Given the description of an element on the screen output the (x, y) to click on. 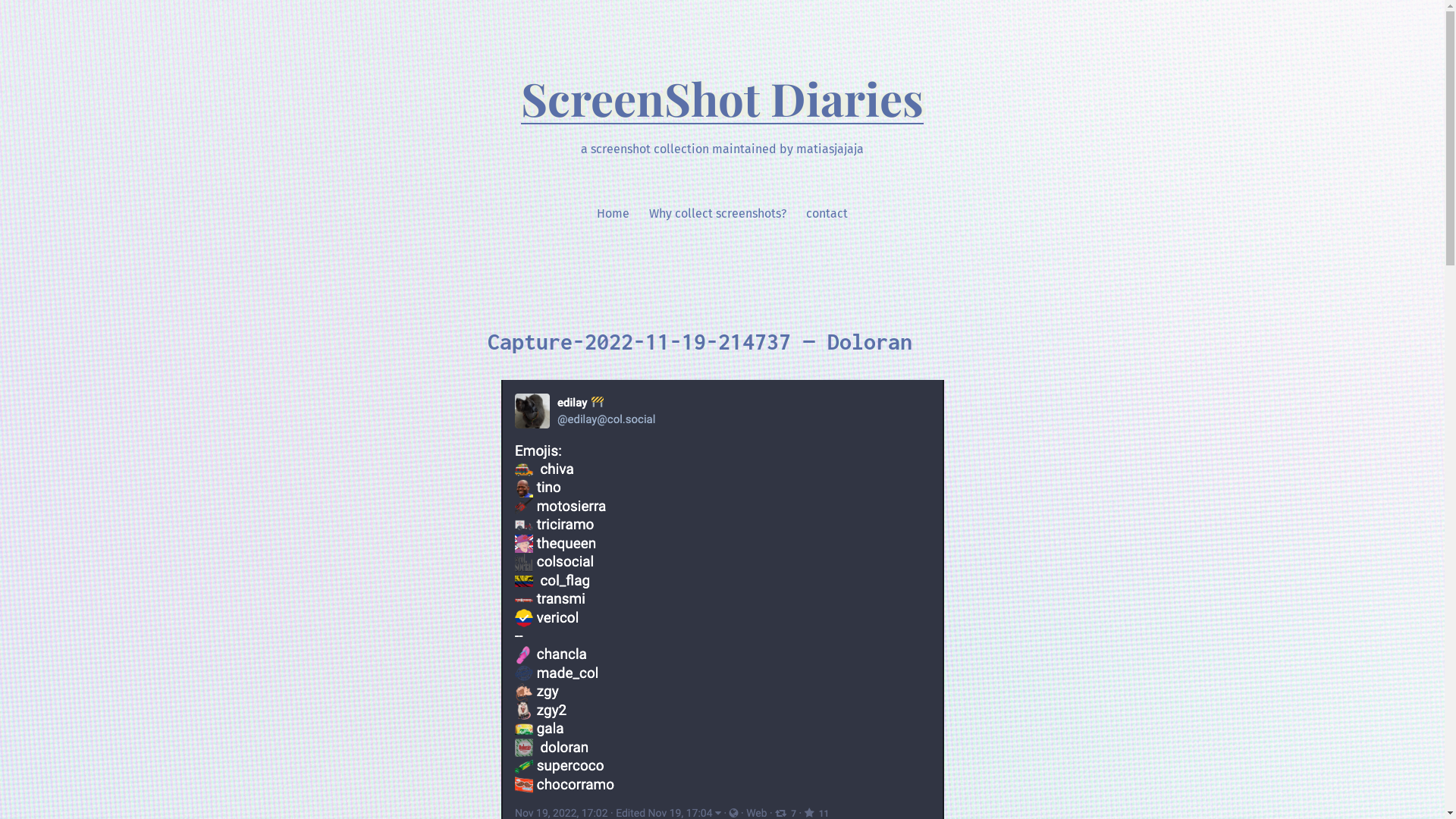
contact Element type: text (826, 213)
Why collect screenshots? Element type: text (717, 213)
Home Element type: text (612, 213)
ScreenShot Diaries Element type: text (721, 97)
